Given the description of an element on the screen output the (x, y) to click on. 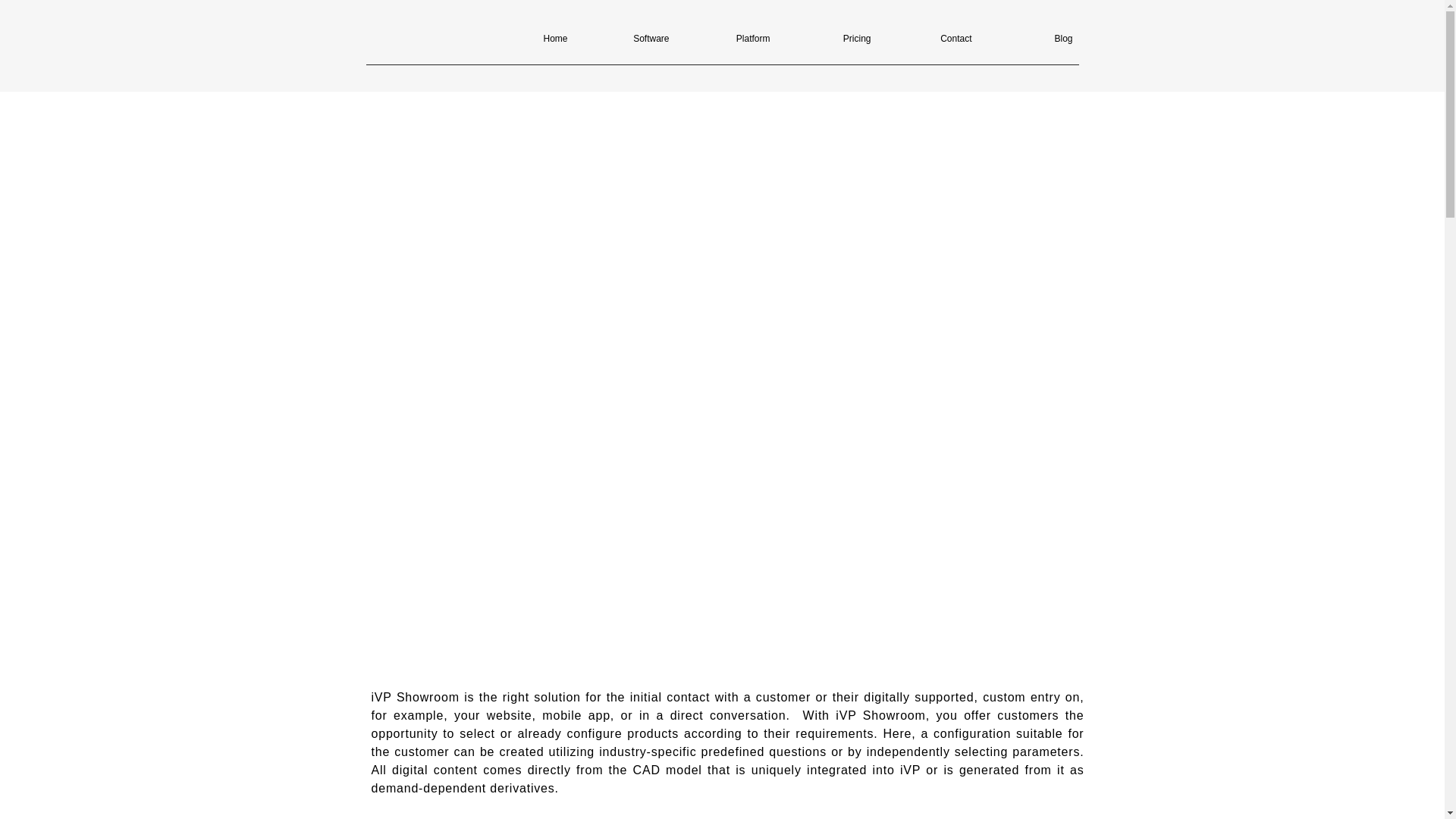
Platform (727, 38)
Blog (1029, 38)
Pricing (828, 38)
Home (524, 38)
Contact (927, 38)
